Given the description of an element on the screen output the (x, y) to click on. 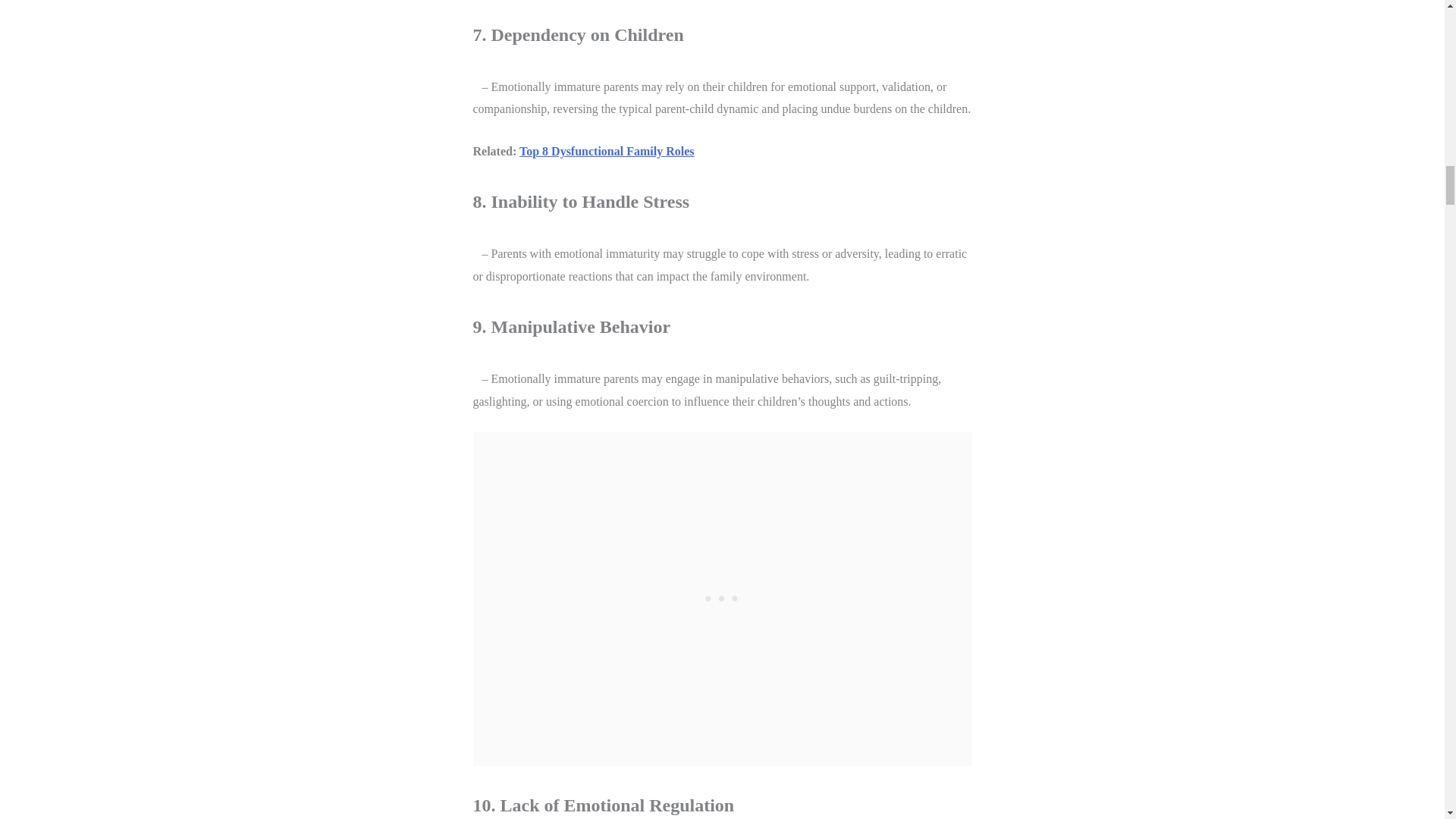
Top 8 Dysfunctional Family Roles (606, 151)
